Given the description of an element on the screen output the (x, y) to click on. 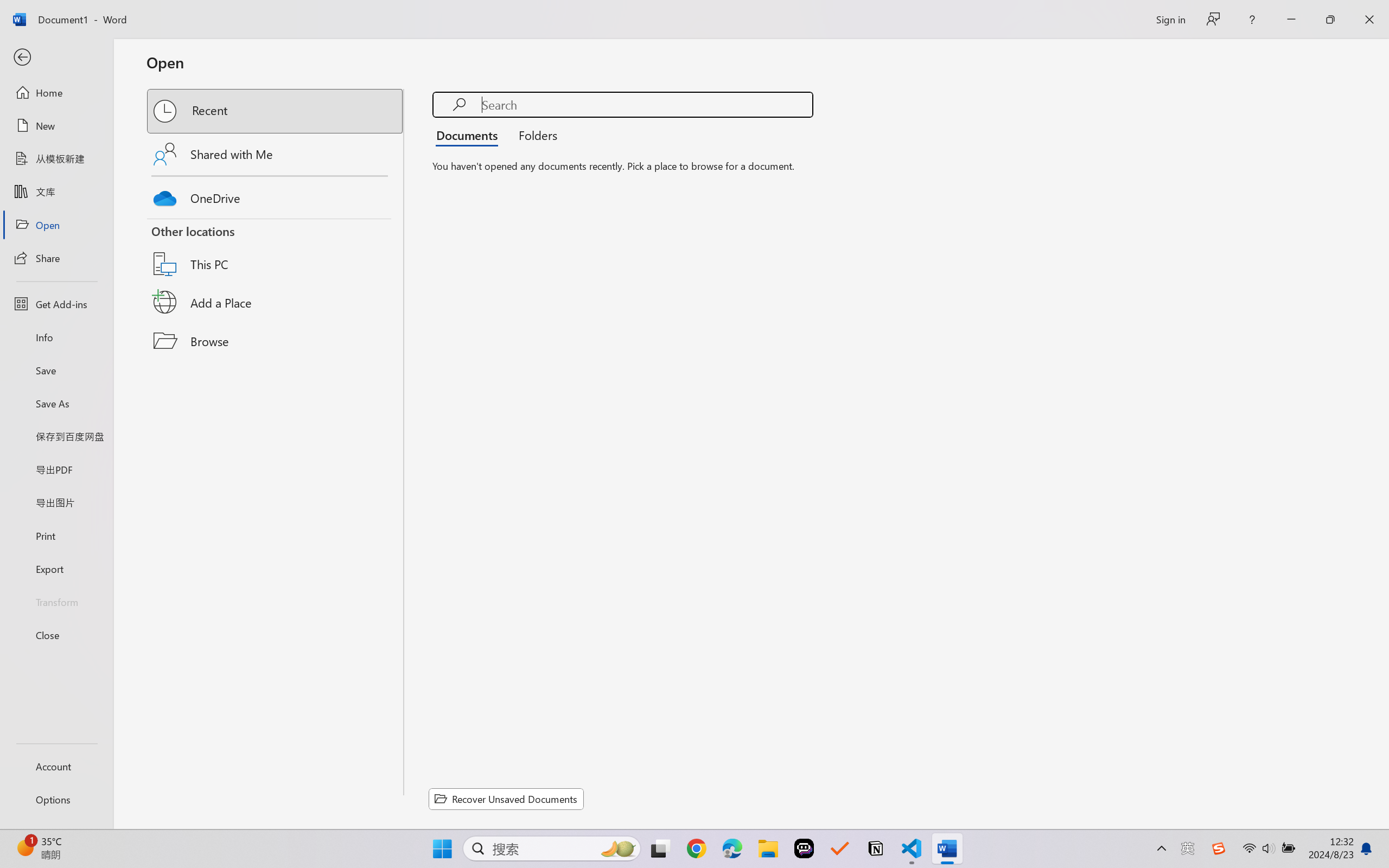
Documents (469, 134)
New (56, 125)
Account (56, 765)
Back (56, 57)
This PC (275, 249)
Export (56, 568)
Recent (275, 110)
Shared with Me (275, 153)
